Given the description of an element on the screen output the (x, y) to click on. 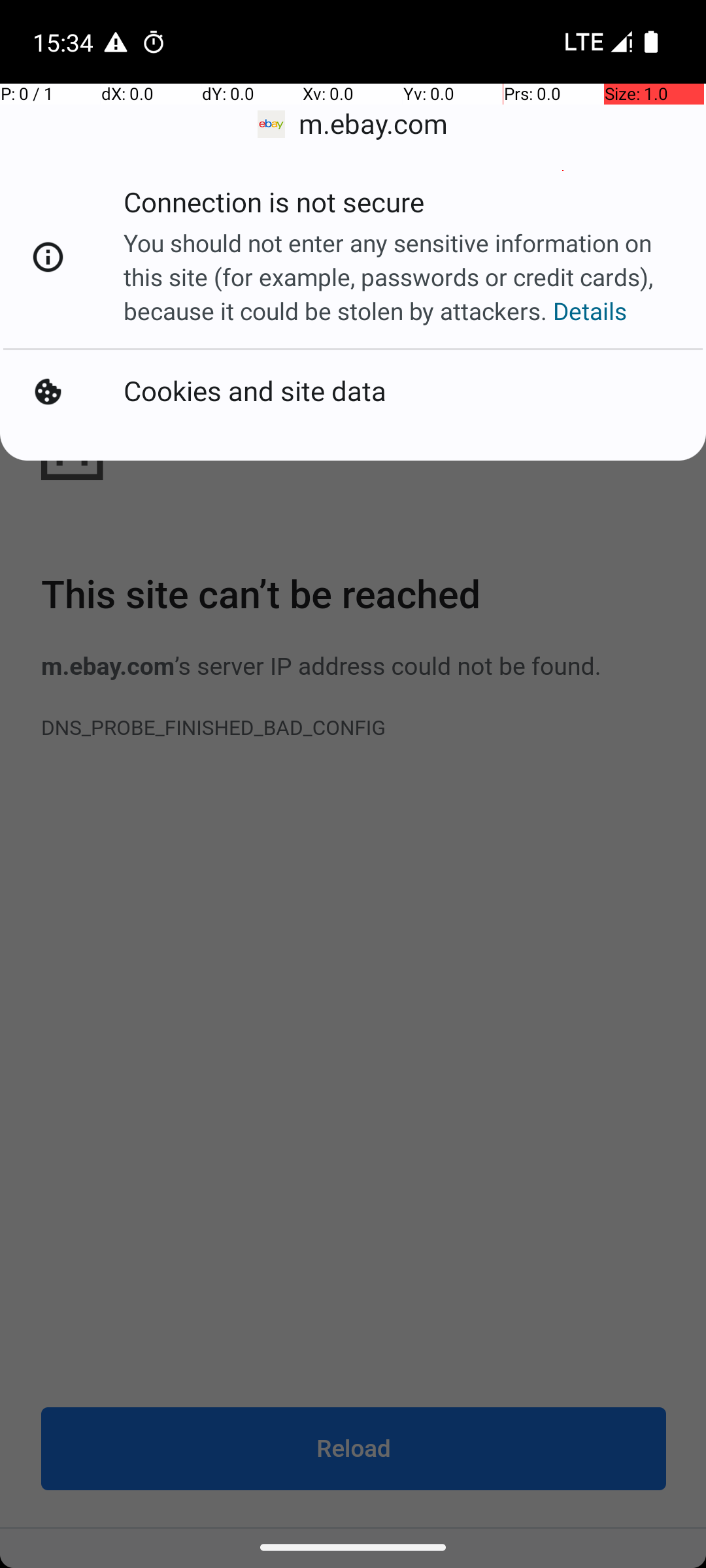
m.ebay.com Element type: android.widget.TextView (352, 124)
Connection is not secure Element type: android.widget.TextView (273, 206)
You should not enter any sensitive information on this site (for example, passwords or credit cards), because it could be stolen by attackers. Details Element type: android.widget.TextView (400, 276)
Cookies and site data Element type: android.widget.TextView (254, 391)
